Given the description of an element on the screen output the (x, y) to click on. 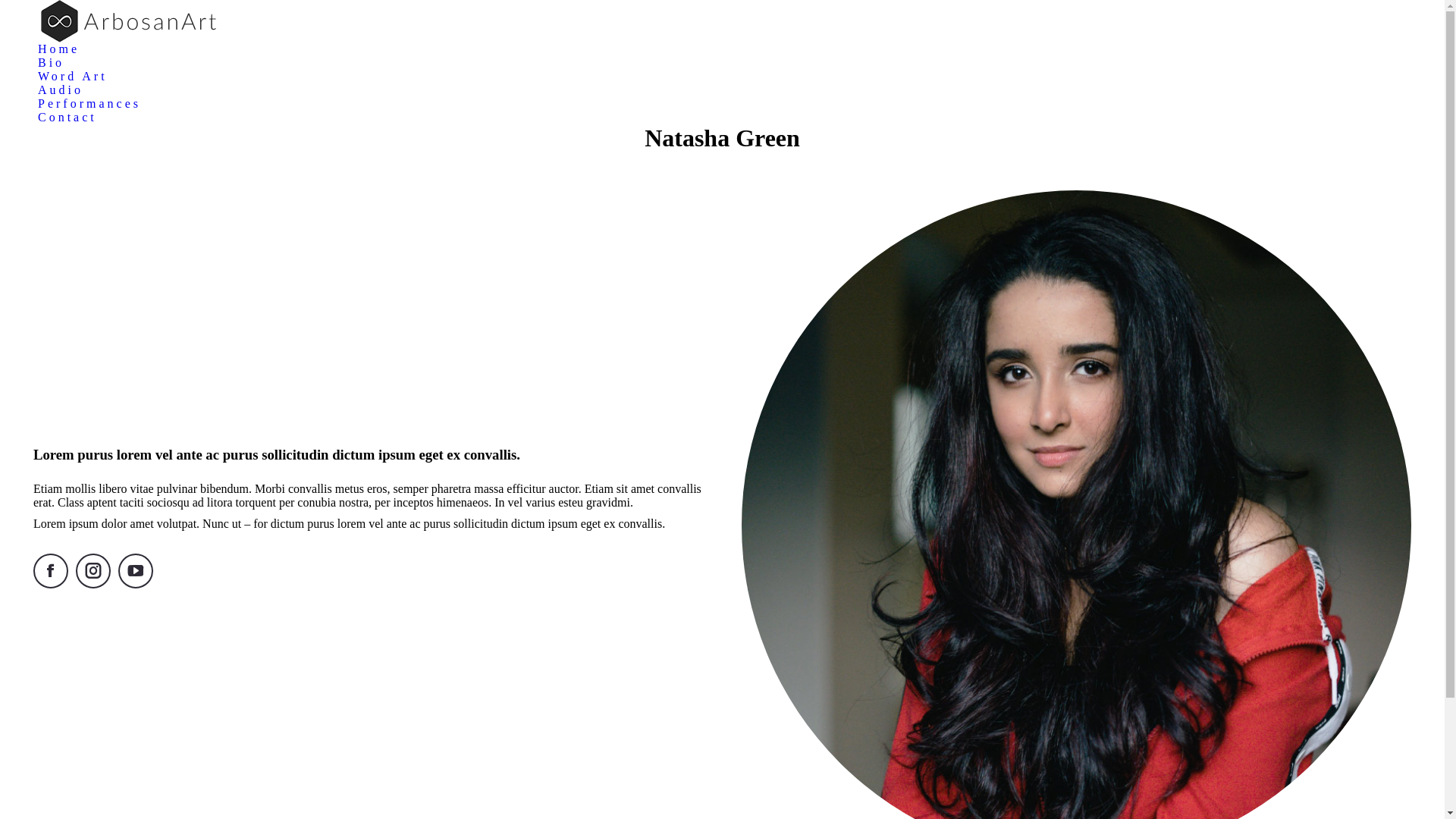
YouTube Element type: text (135, 570)
Home Element type: text (58, 49)
Instagram Element type: text (92, 570)
Facebook Element type: text (50, 570)
Audio Element type: text (60, 90)
Contact Element type: text (67, 117)
Word Art Element type: text (72, 76)
Bio Element type: text (50, 62)
Performances Element type: text (89, 103)
